Given the description of an element on the screen output the (x, y) to click on. 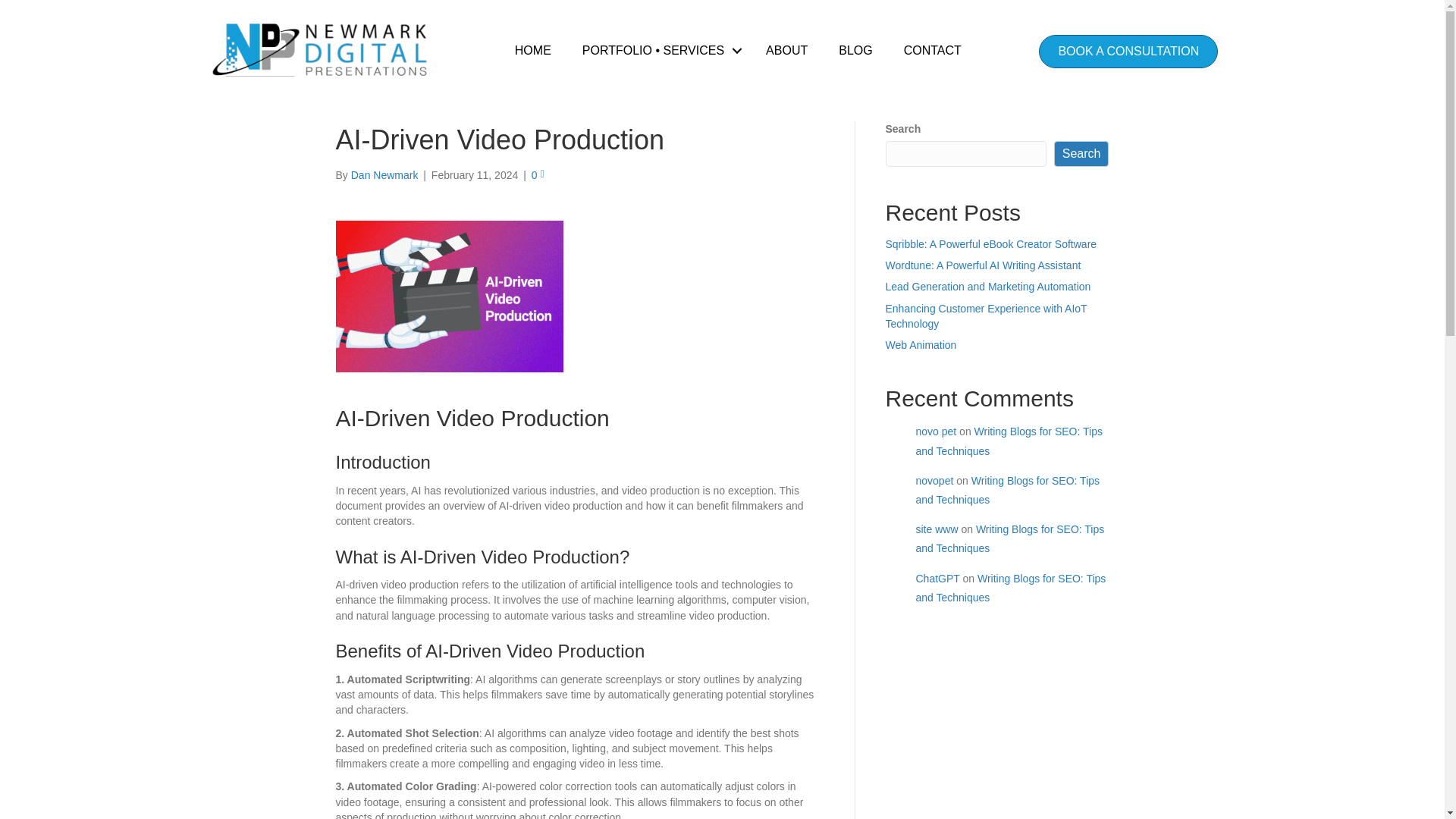
CONTACT (932, 50)
HOME (532, 50)
BLOG (855, 50)
BOOK A CONSULTATION (1128, 51)
ABOUT (786, 50)
Newmark digital presentations logo (323, 49)
